Given the description of an element on the screen output the (x, y) to click on. 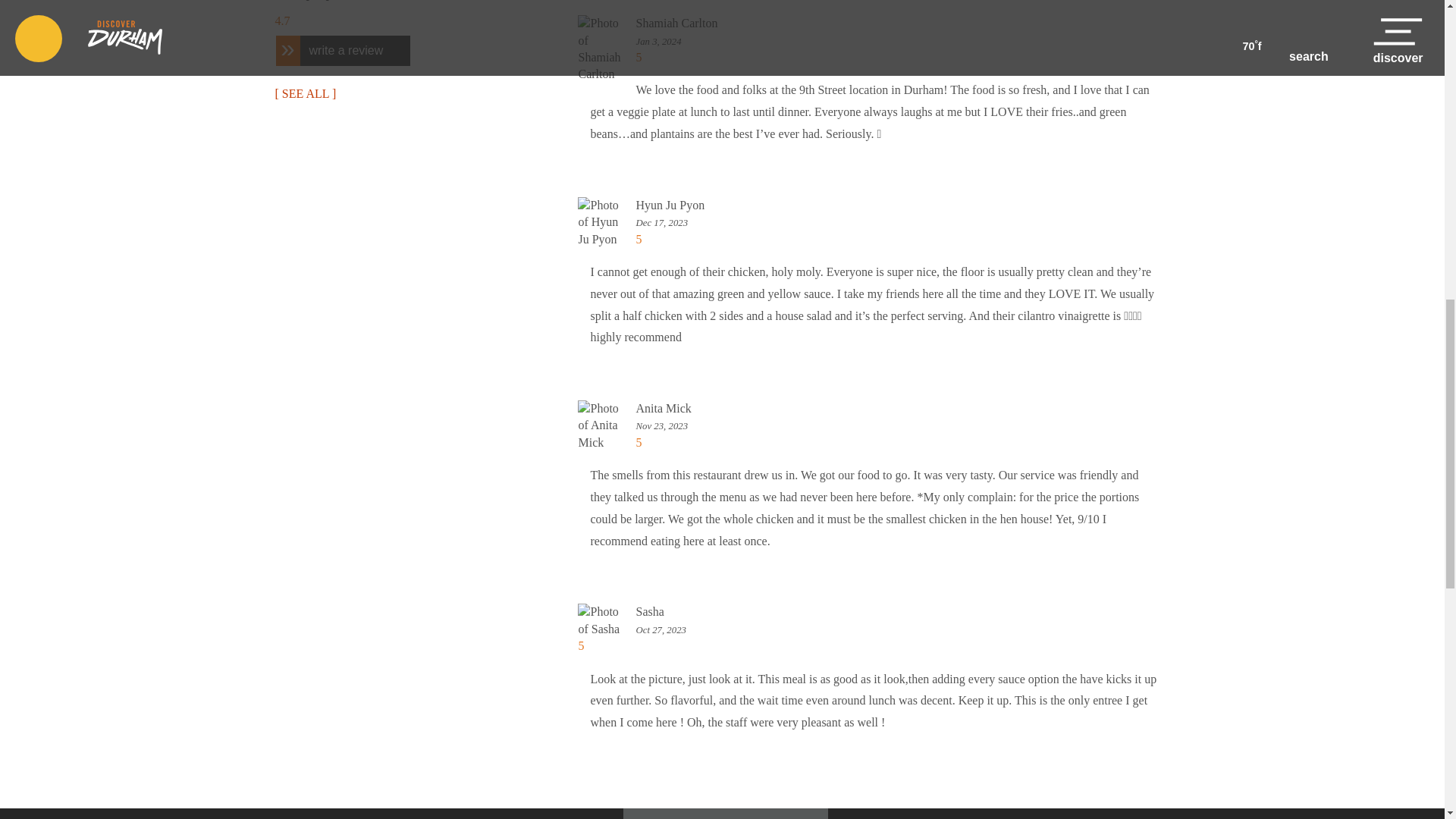
SEE ALL (305, 93)
write a review (342, 50)
